Given the description of an element on the screen output the (x, y) to click on. 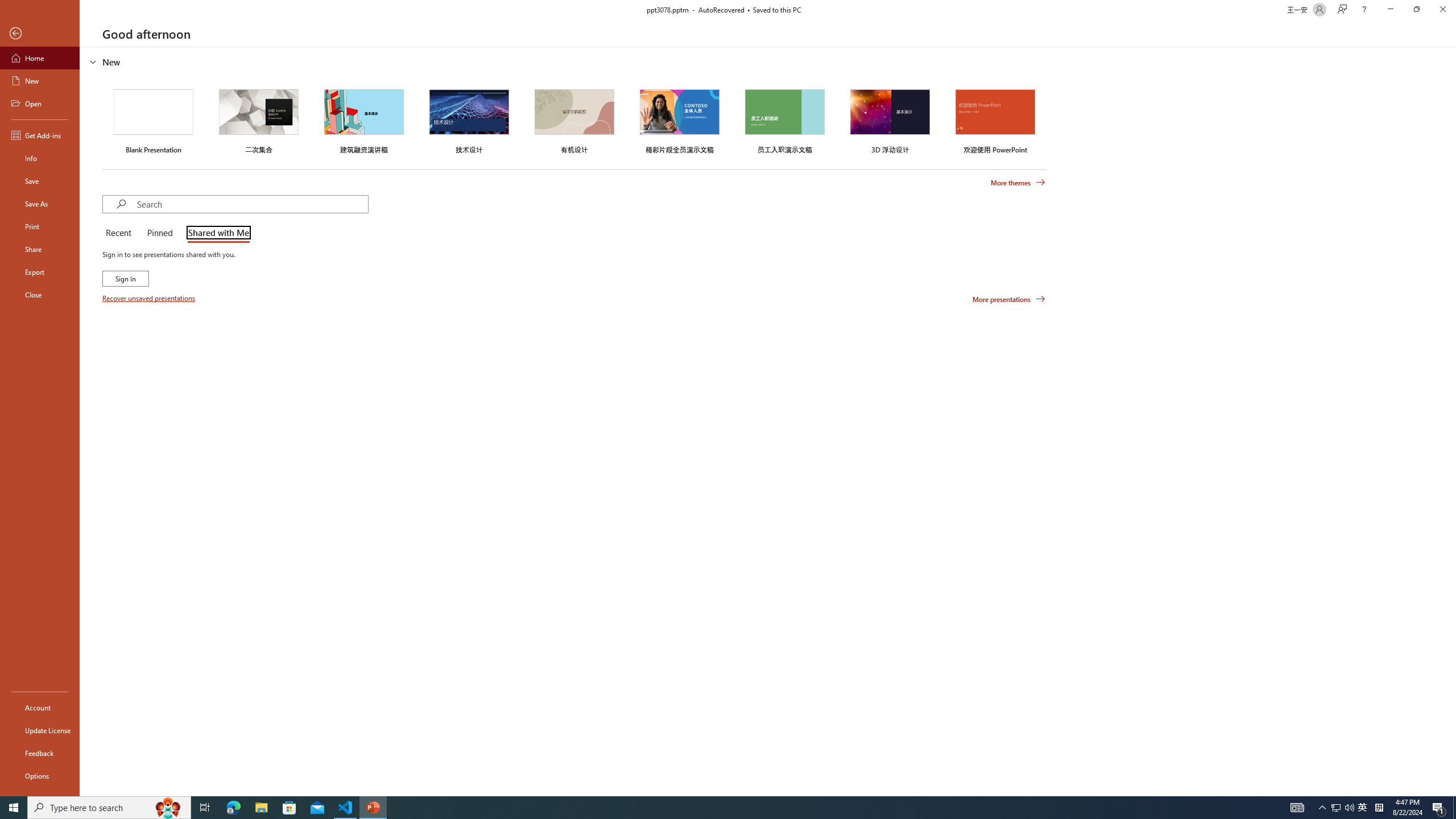
More presentations (1008, 298)
New (40, 80)
Export (40, 271)
Options (40, 775)
Update License (40, 730)
Shared with Me (215, 233)
Hide or show region (92, 61)
